Given the description of an element on the screen output the (x, y) to click on. 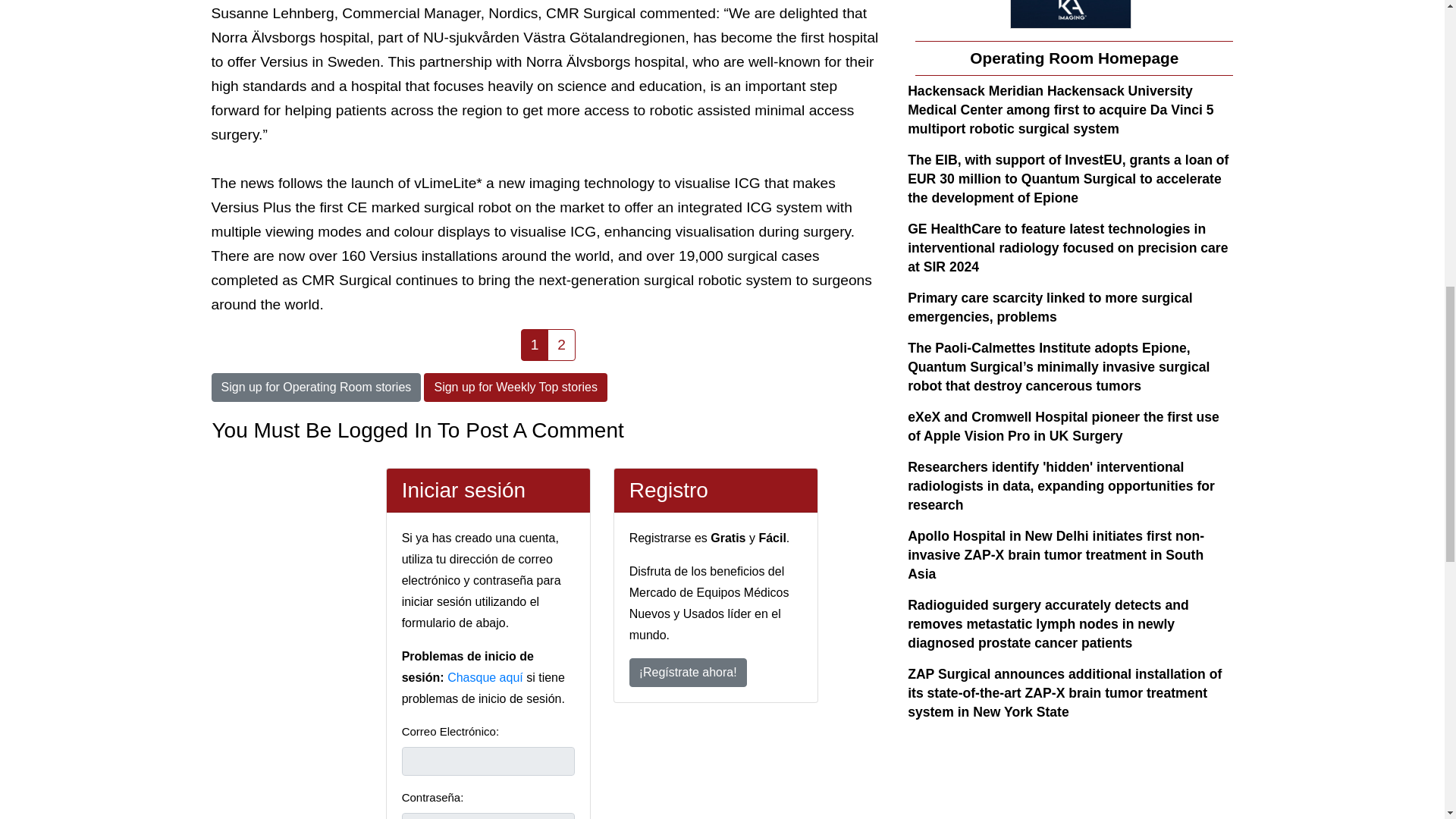
Register Now! (687, 672)
